Given the description of an element on the screen output the (x, y) to click on. 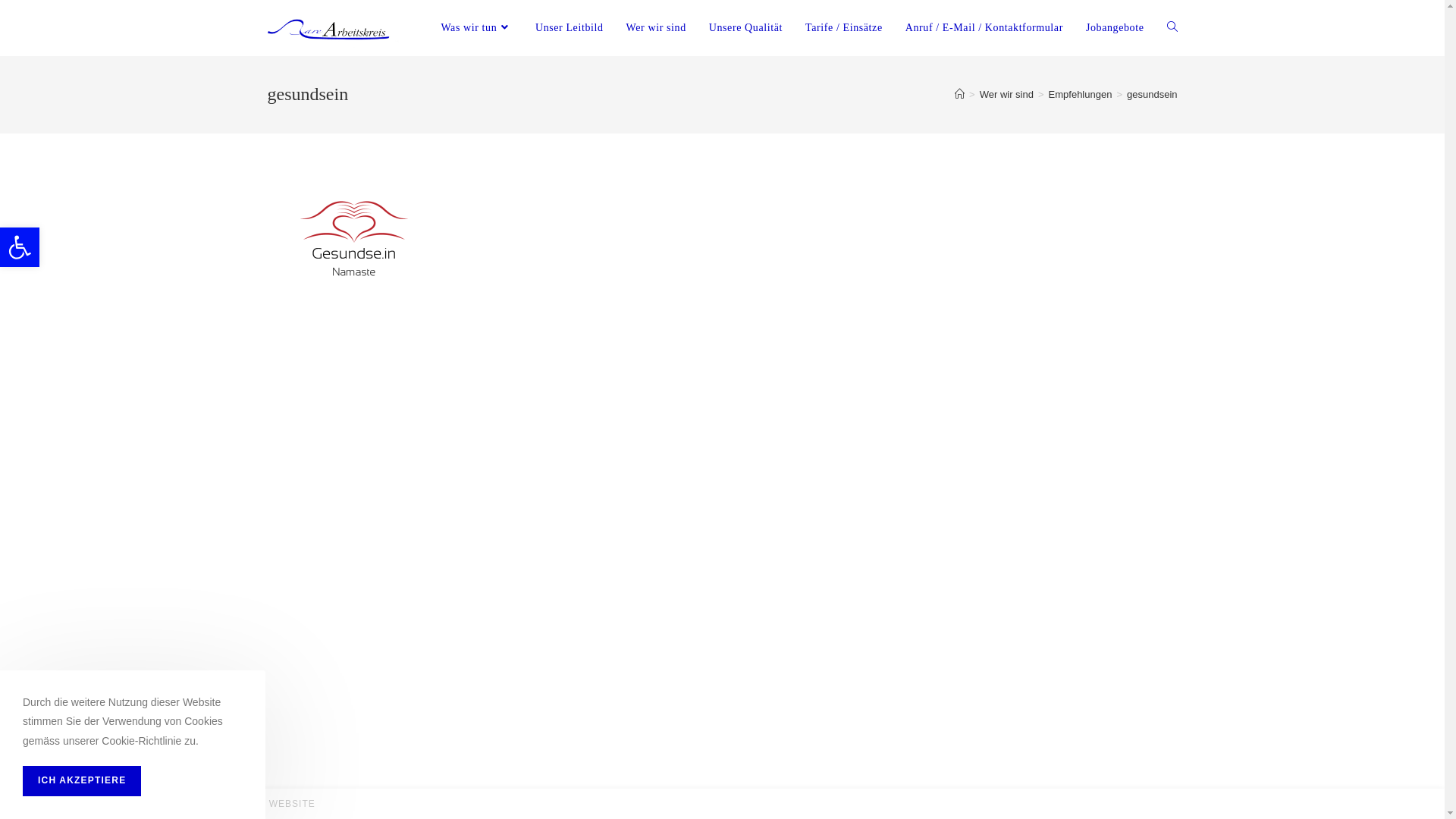
Anruf / E-Mail / Kontaktformular Element type: text (984, 28)
Unser Leitbild Element type: text (569, 28)
Wer wir sind Element type: text (656, 28)
Was wir tun Element type: text (476, 28)
Open toolbar
Accessibility Tools Element type: text (19, 246)
Jobangebote Element type: text (1114, 28)
Wer wir sind Element type: text (1006, 94)
Empfehlungen Element type: text (1080, 94)
gesundsein Element type: text (1151, 94)
ICH AKZEPTIERE Element type: text (81, 780)
